Given the description of an element on the screen output the (x, y) to click on. 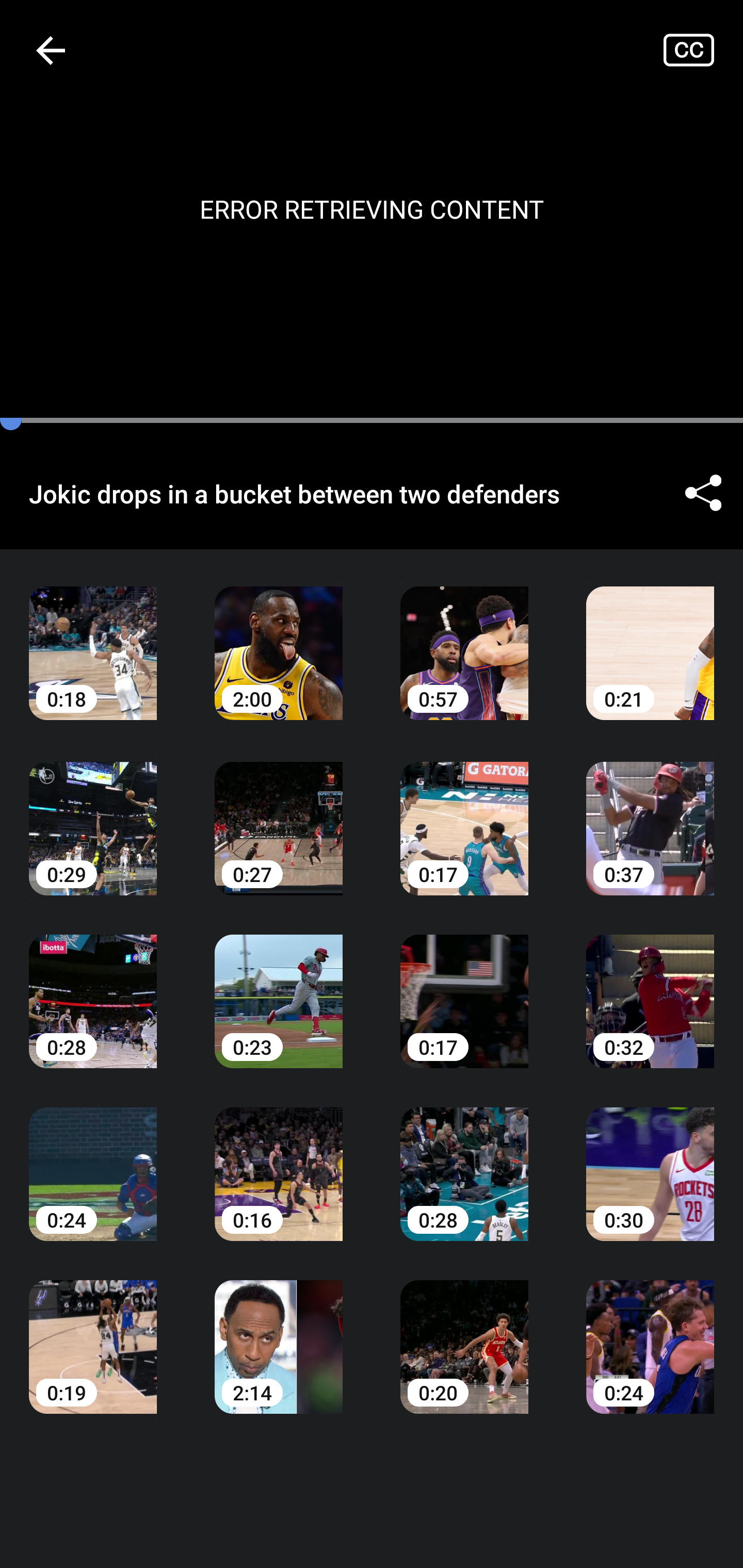
Navigate up (50, 50)
Closed captions  (703, 49)
Share © (703, 493)
0:18 (92, 637)
2:00 (278, 637)
0:57 (464, 637)
0:21 (650, 637)
0:29 (92, 813)
0:27 (278, 813)
0:17 (464, 813)
0:37 (650, 813)
0:28 (92, 987)
0:23 (278, 987)
0:17 (464, 987)
0:32 (650, 987)
0:24 (92, 1160)
0:16 (278, 1160)
0:28 (464, 1160)
0:30 (650, 1160)
0:19 (92, 1332)
2:14 (278, 1332)
0:20 (464, 1332)
0:24 (650, 1332)
